Given the description of an element on the screen output the (x, y) to click on. 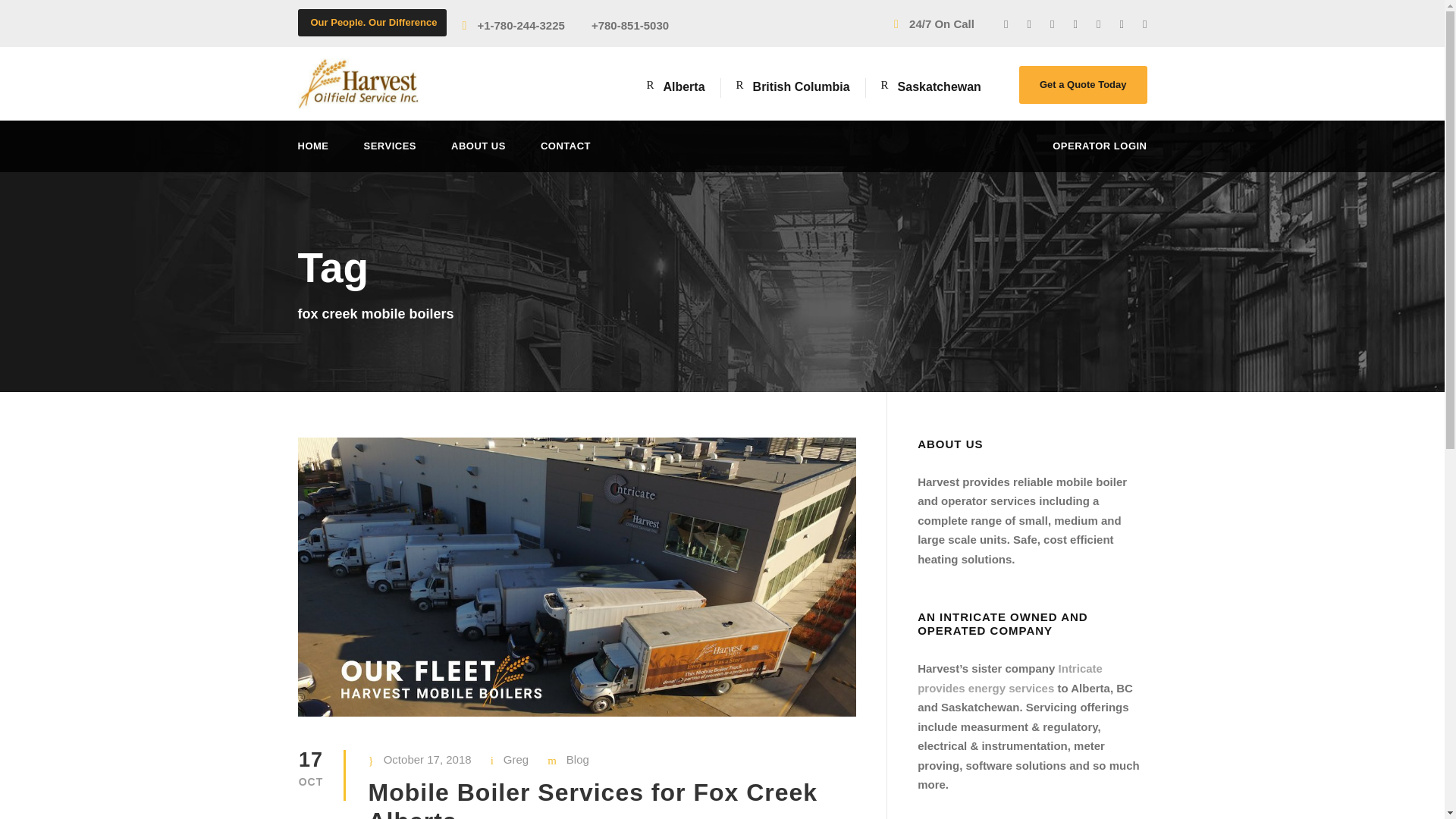
Greg (515, 758)
Get a Quote Today (1083, 85)
Blog (577, 758)
October 17, 2018 (427, 758)
ABOUT US (478, 154)
OPERATOR LOGIN (1099, 154)
Mobile Boiler Services for Fox Creek Alberta (593, 798)
Intricate provides energy services (1009, 677)
CONTACT (565, 154)
SERVICES (390, 154)
HOME (313, 154)
Posts by Greg (515, 758)
